Given the description of an element on the screen output the (x, y) to click on. 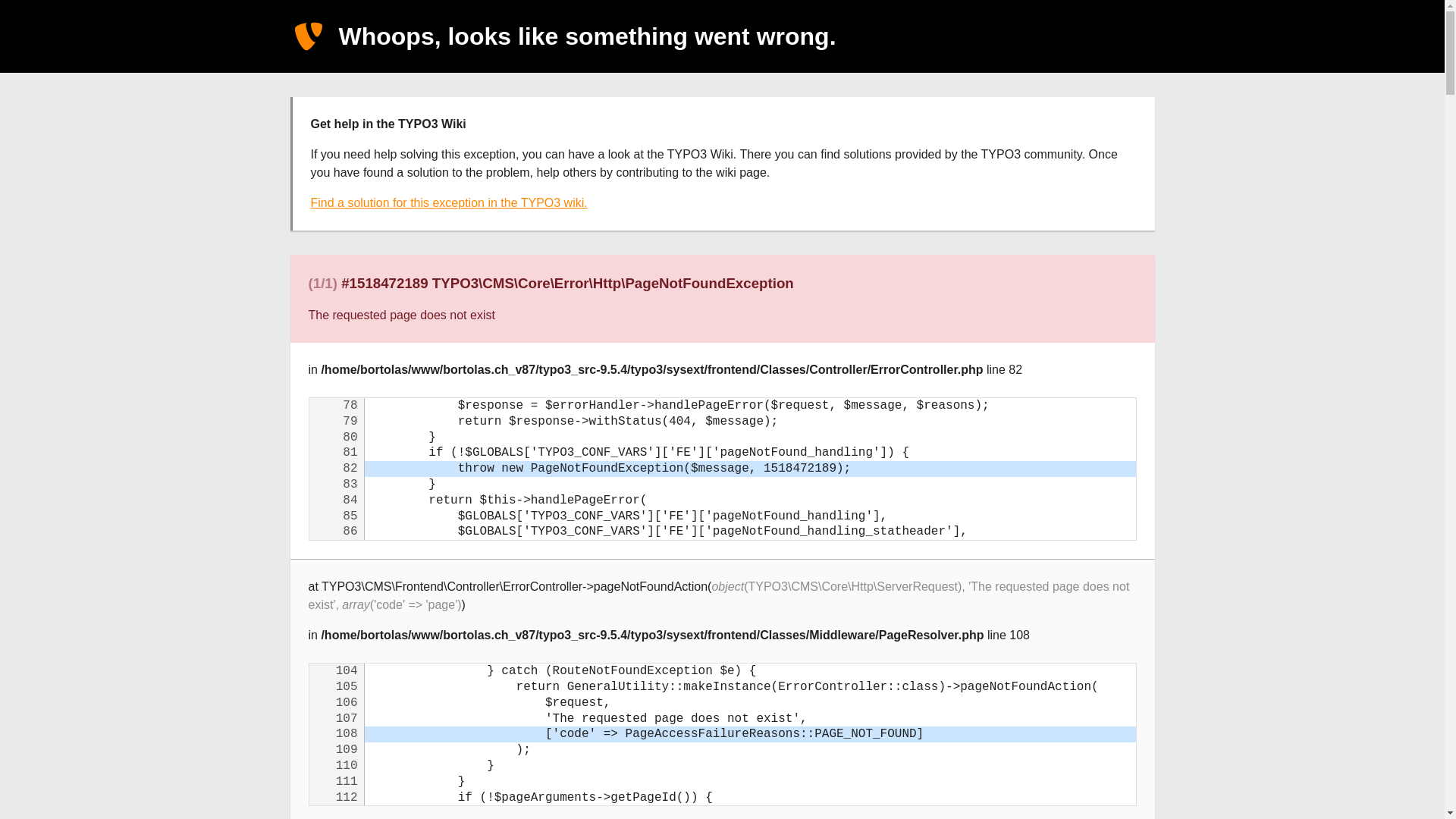
Find a solution for this exception in the TYPO3 wiki. Element type: text (448, 202)
